Given the description of an element on the screen output the (x, y) to click on. 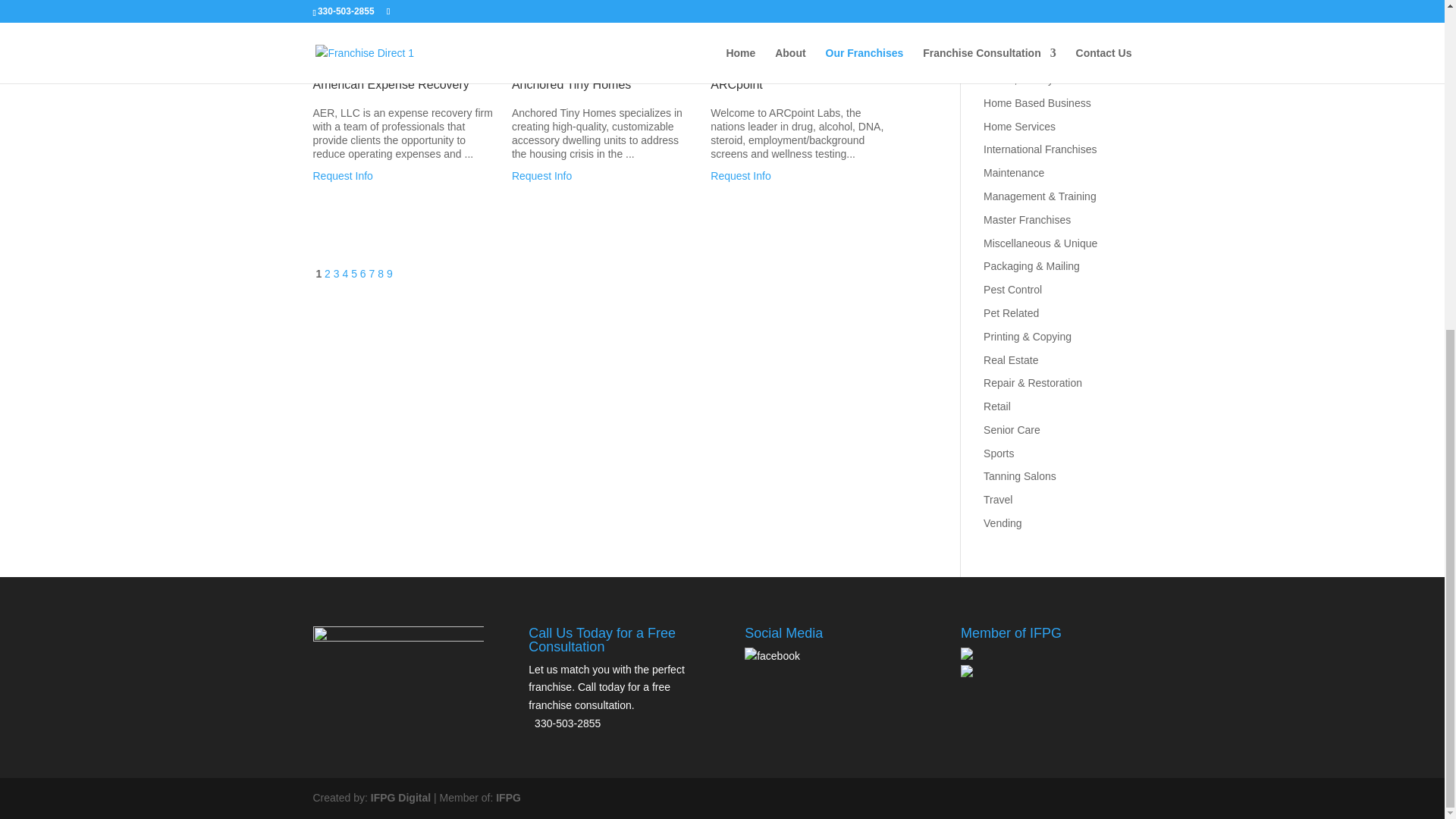
American Expense Recovery (342, 175)
Request Info (740, 175)
Request Info (542, 175)
Request Info (342, 175)
Anchored Tiny Homes (542, 175)
ARCpoint (740, 175)
